Given the description of an element on the screen output the (x, y) to click on. 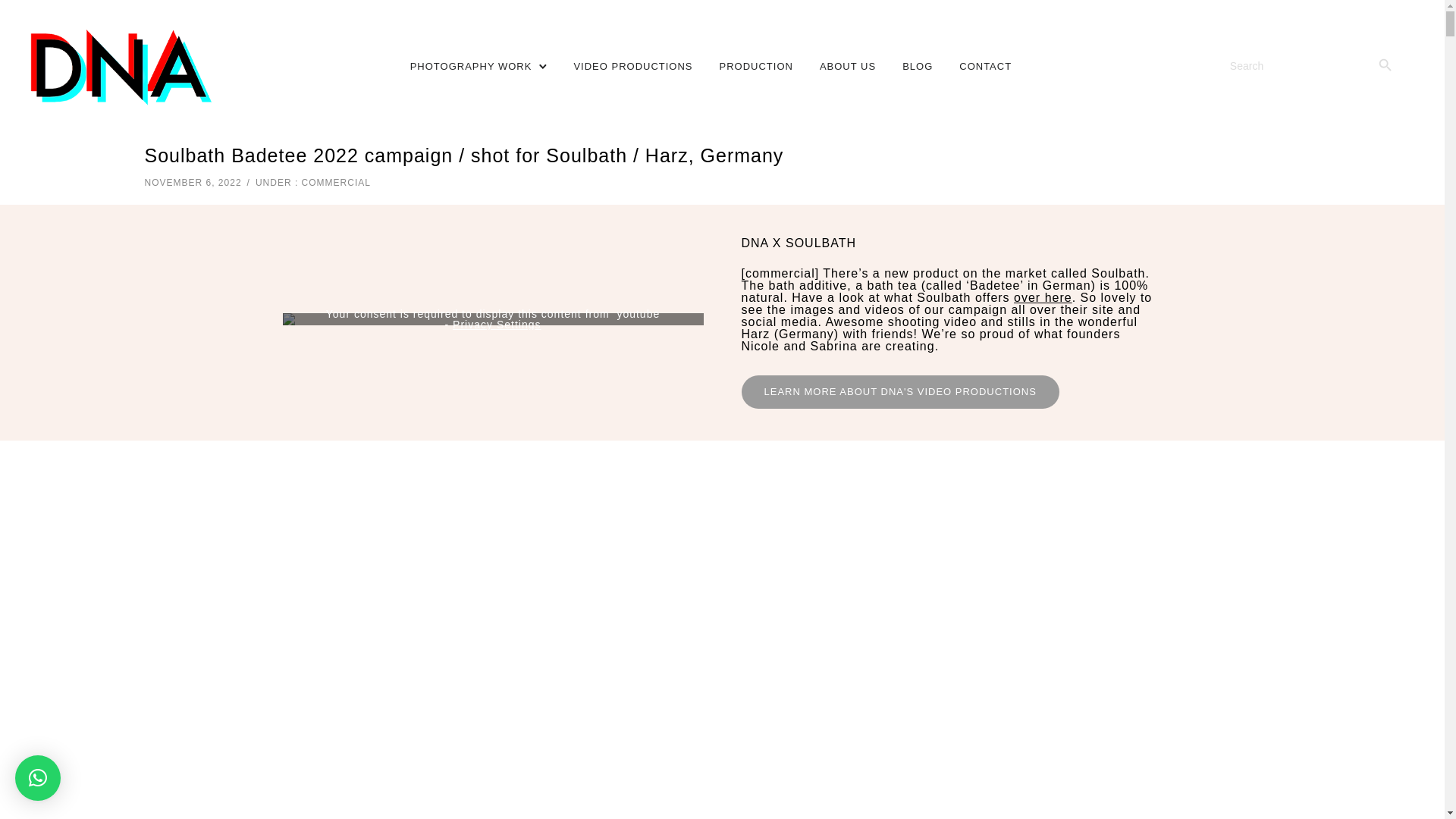
PHOTOGRAPHY WORK (471, 66)
ABOUT US (847, 66)
LEARN MORE ABOUT DNA'S VIDEO PRODUCTIONS (900, 391)
PRODUCTION (755, 66)
BLOG (917, 66)
PHOTOGRAPHY WORK (471, 66)
their site (1086, 309)
CONTACT (985, 66)
About Us (847, 66)
Blog (917, 66)
